Given the description of an element on the screen output the (x, y) to click on. 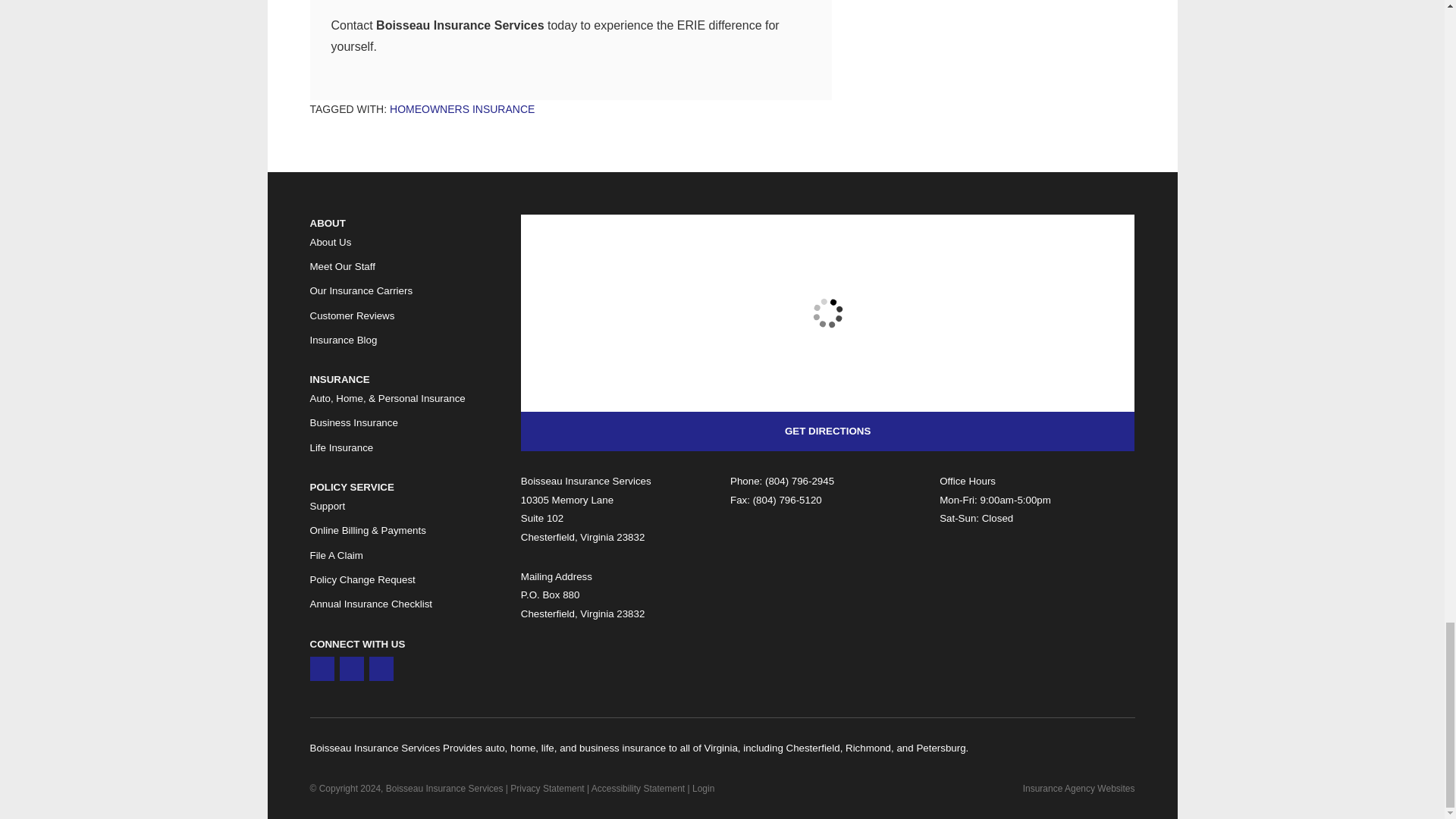
Facebook (380, 668)
Google Maps (320, 668)
Homeowners Insurance (462, 109)
Yelp (351, 668)
